Given the description of an element on the screen output the (x, y) to click on. 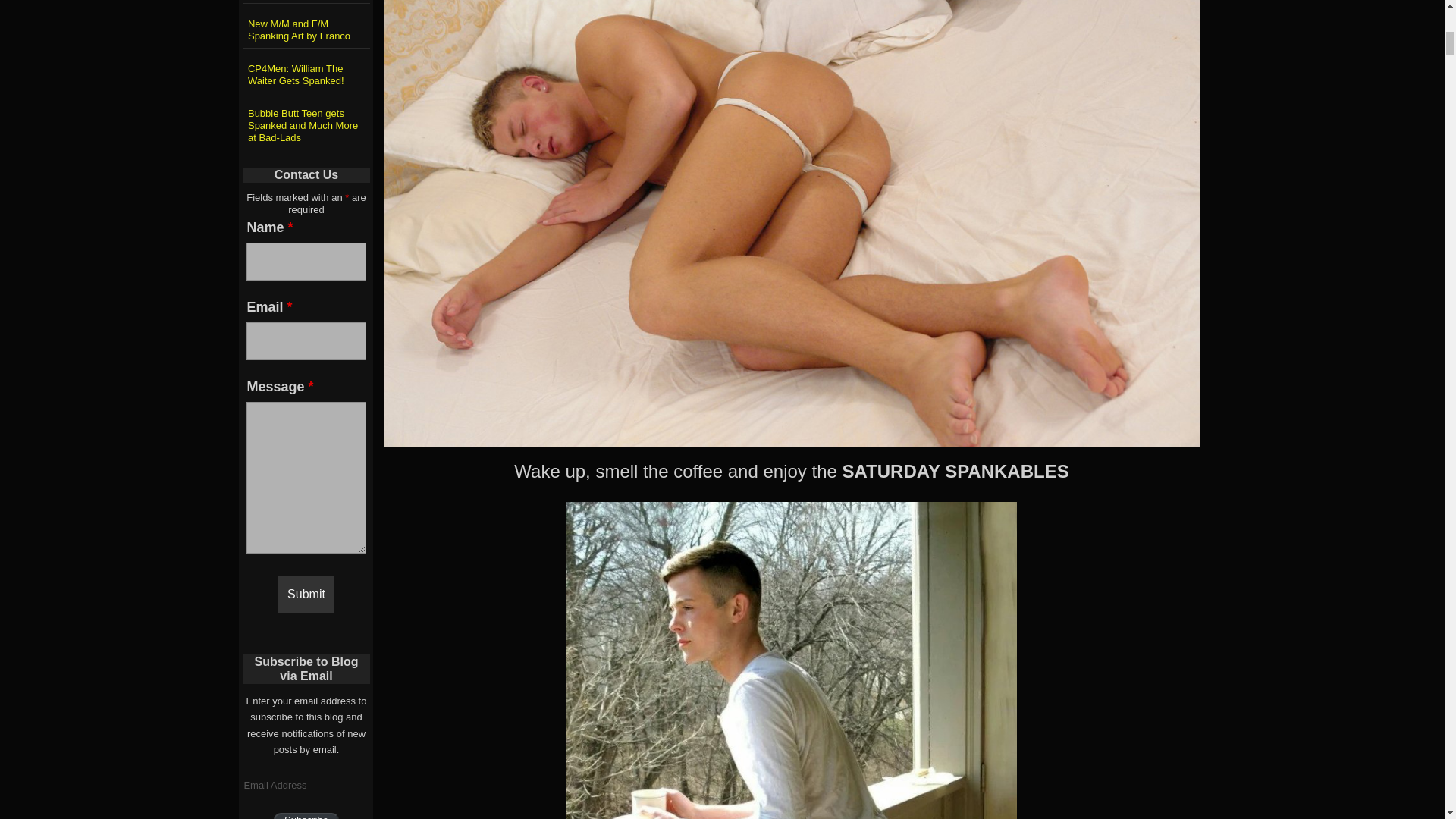
Submit (306, 594)
